Given the description of an element on the screen output the (x, y) to click on. 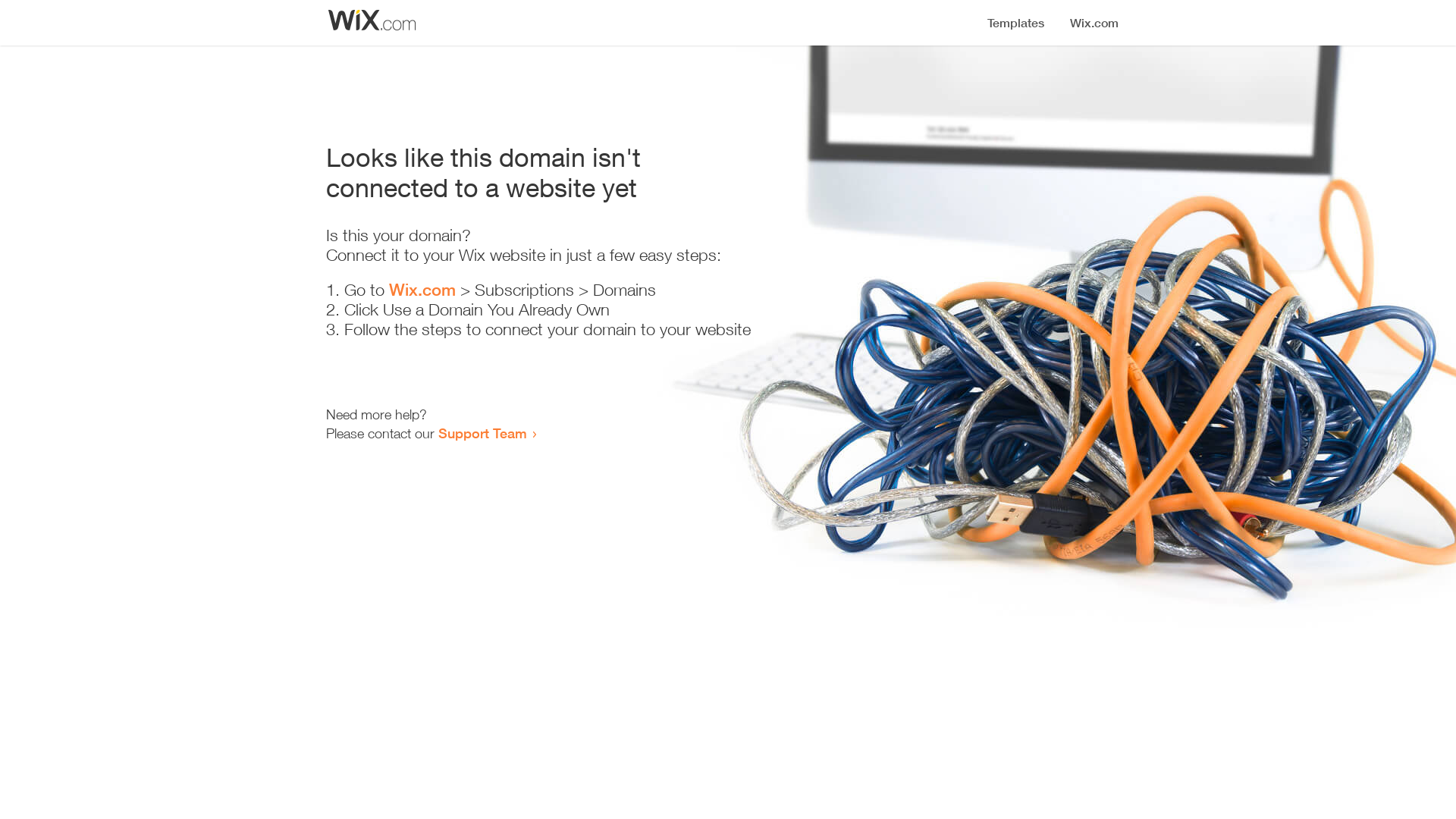
Wix.com Element type: text (422, 289)
Support Team Element type: text (482, 432)
